Given the description of an element on the screen output the (x, y) to click on. 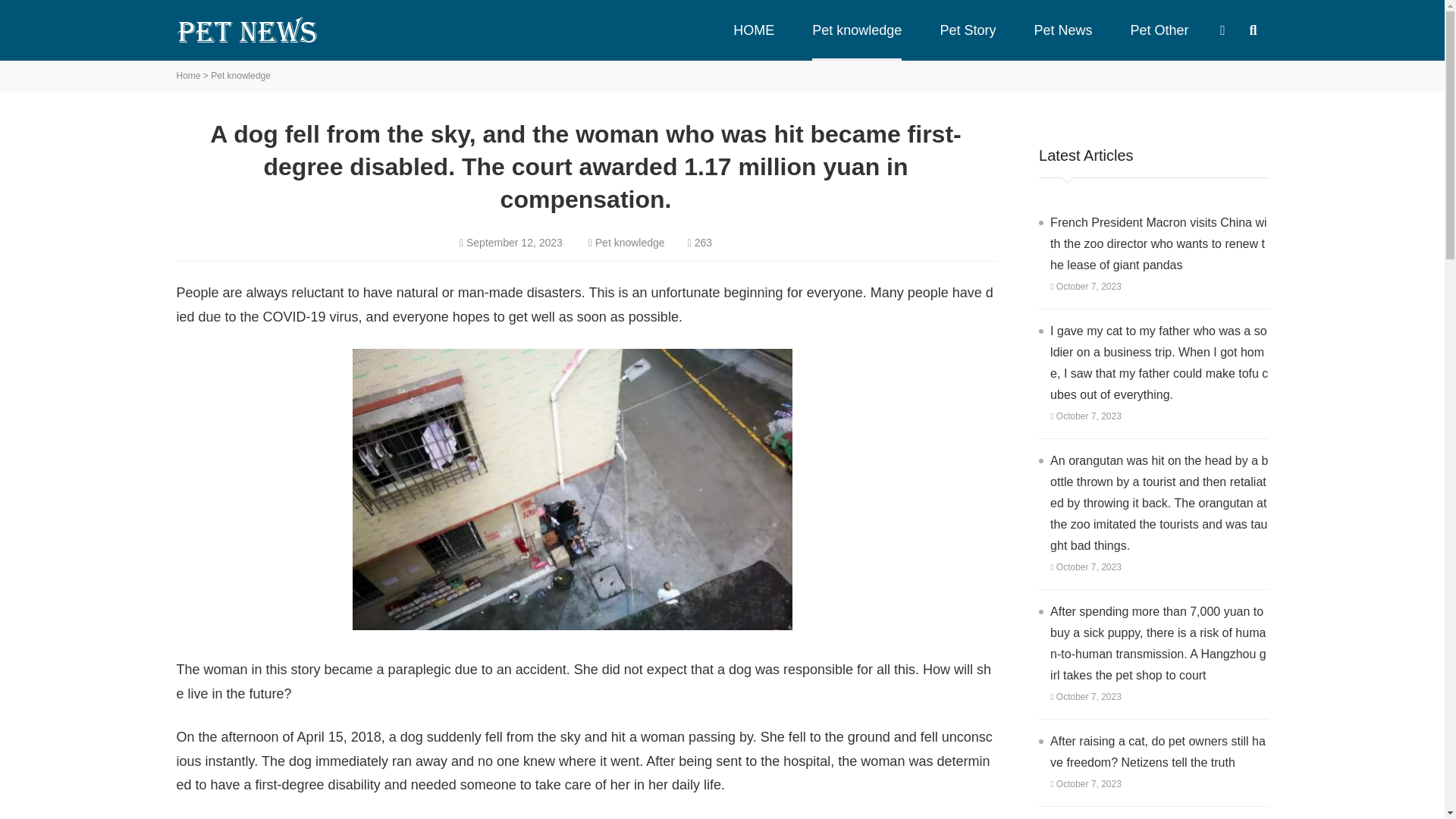
Home (188, 75)
Pet Story (967, 30)
Pet knowledge (856, 30)
Pet knowledge (630, 242)
Pet knowledge (240, 75)
pet filecabi (248, 30)
